Given the description of an element on the screen output the (x, y) to click on. 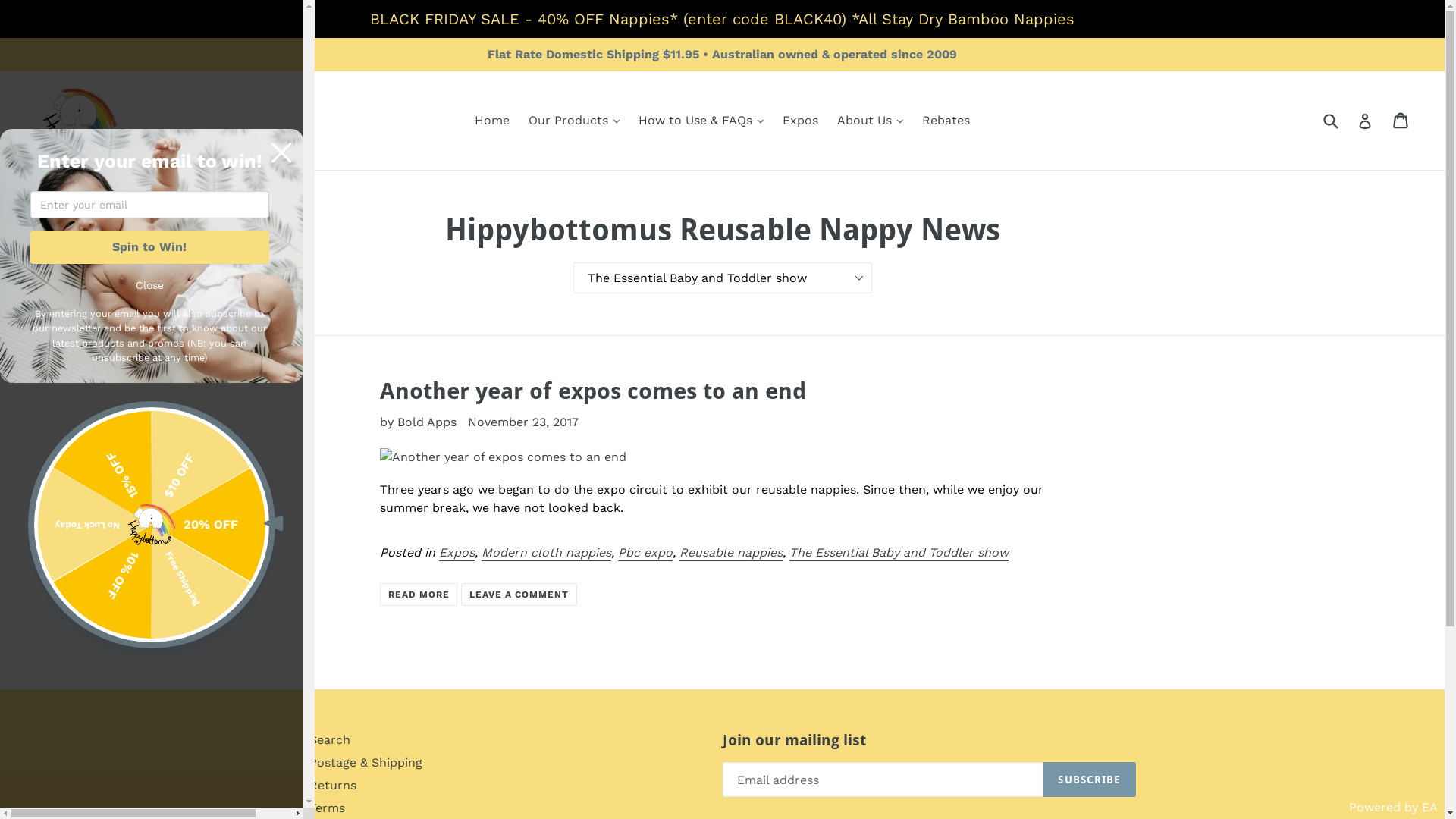
READ MORE Element type: text (418, 594)
Expos Element type: text (456, 553)
Powered by EA Element type: text (1393, 807)
Terms Element type: text (327, 807)
Close Element type: text (149, 284)
Returns Element type: text (332, 785)
SUBSCRIBE Element type: text (1089, 779)
Pbc expo Element type: text (645, 553)
Postage & Shipping Element type: text (365, 762)
Reusable nappies Element type: text (730, 553)
Cart
Cart Element type: text (1401, 120)
Search Element type: text (329, 739)
LEAVE A COMMENT Element type: text (518, 594)
Spin to Win! Element type: text (149, 246)
Log in Element type: text (1364, 120)
Home Element type: text (492, 120)
Rebates Element type: text (945, 120)
Submit Element type: text (1329, 119)
Expos Element type: text (800, 120)
The Essential Baby and Toddler show Element type: text (898, 553)
Another year of expos comes to an end Element type: text (592, 390)
Modern cloth nappies Element type: text (546, 553)
